Given the description of an element on the screen output the (x, y) to click on. 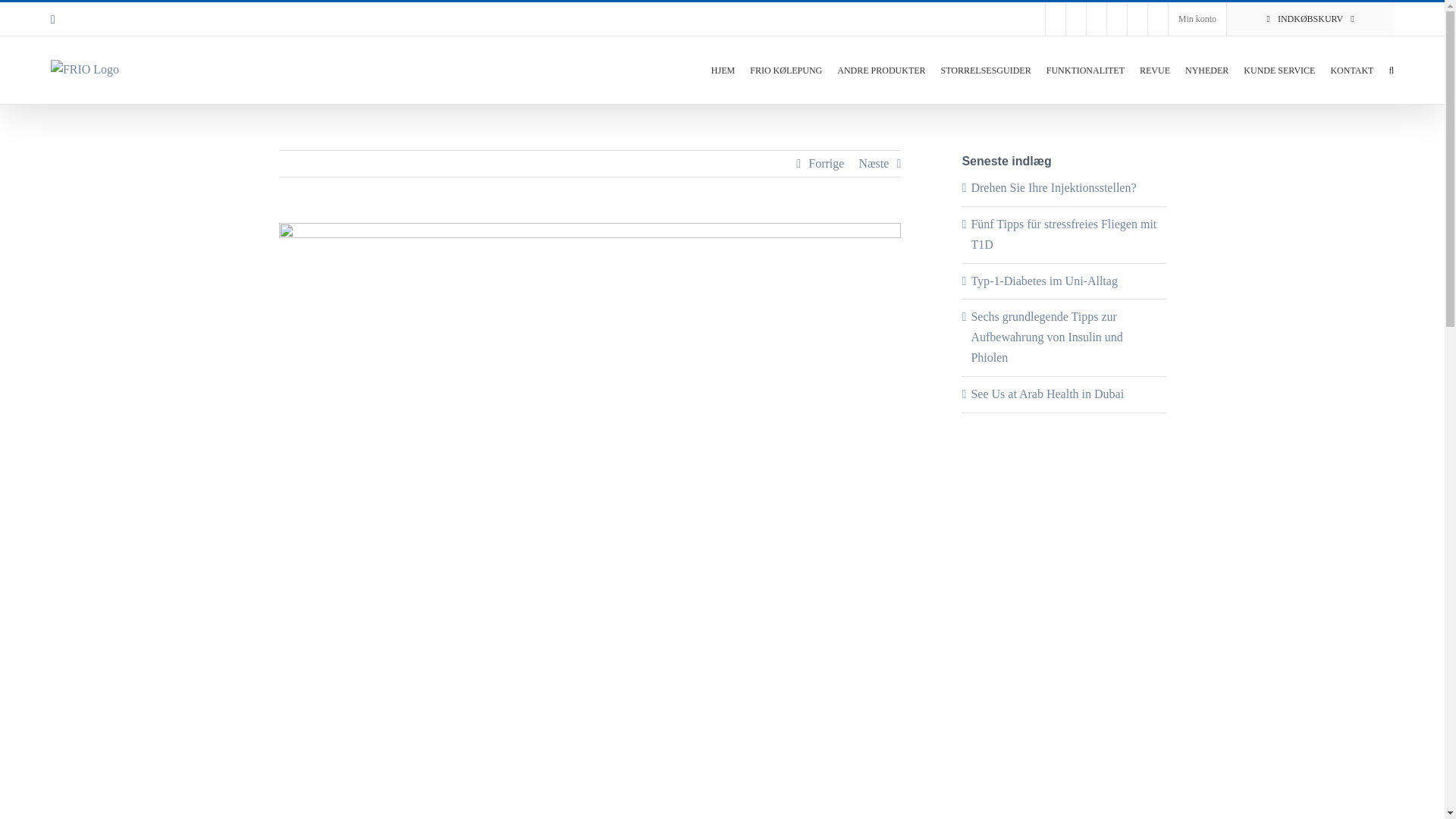
ANDRE PRODUKTER (880, 68)
Min konto (1197, 19)
Forrige (826, 163)
KUNDE SERVICE (1278, 68)
Log ind (1285, 146)
STORRELSESGUIDER (985, 68)
FUNKTIONALITET (1085, 68)
